Given the description of an element on the screen output the (x, y) to click on. 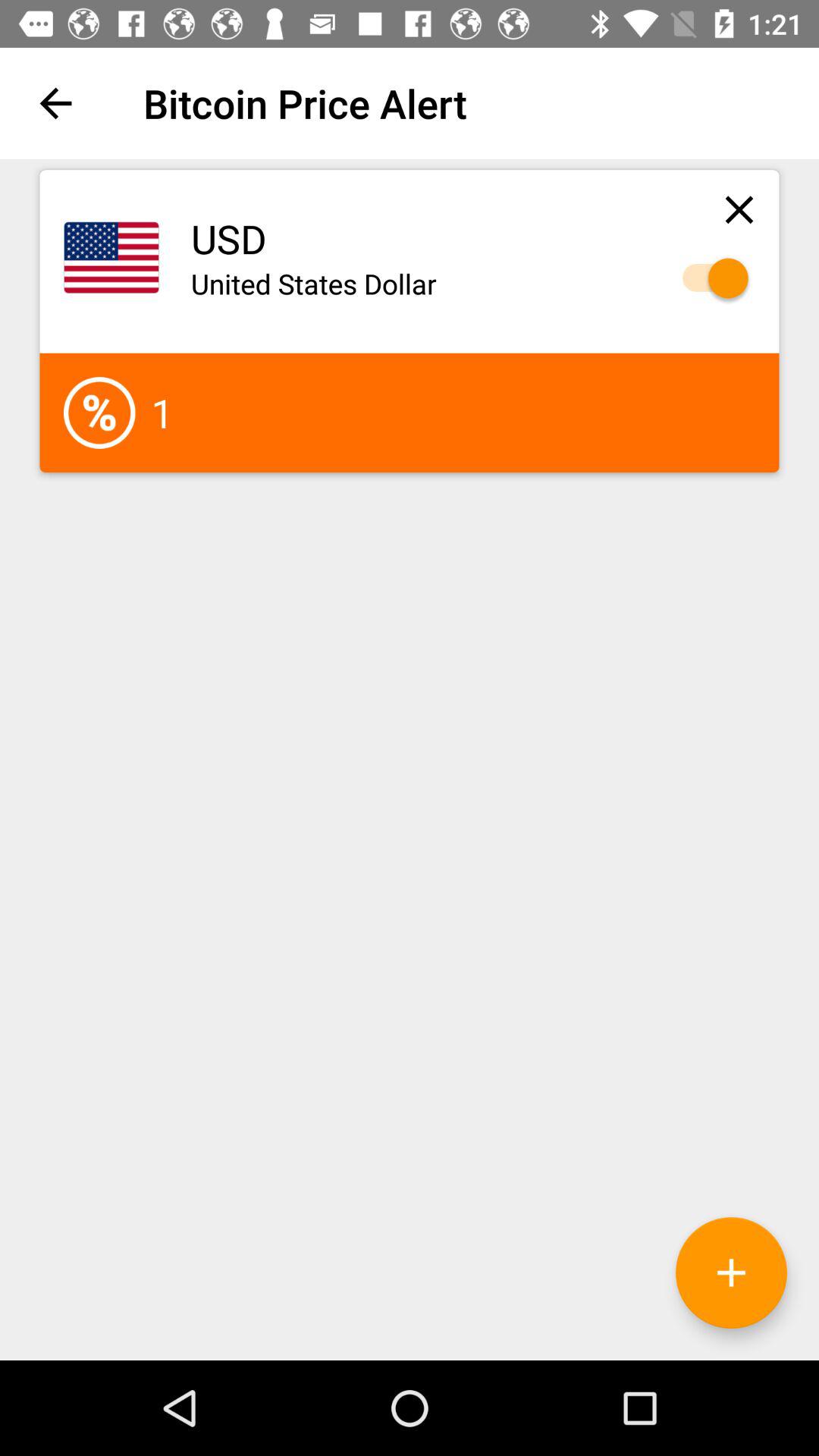
press the item next to united states dollar (707, 278)
